Given the description of an element on the screen output the (x, y) to click on. 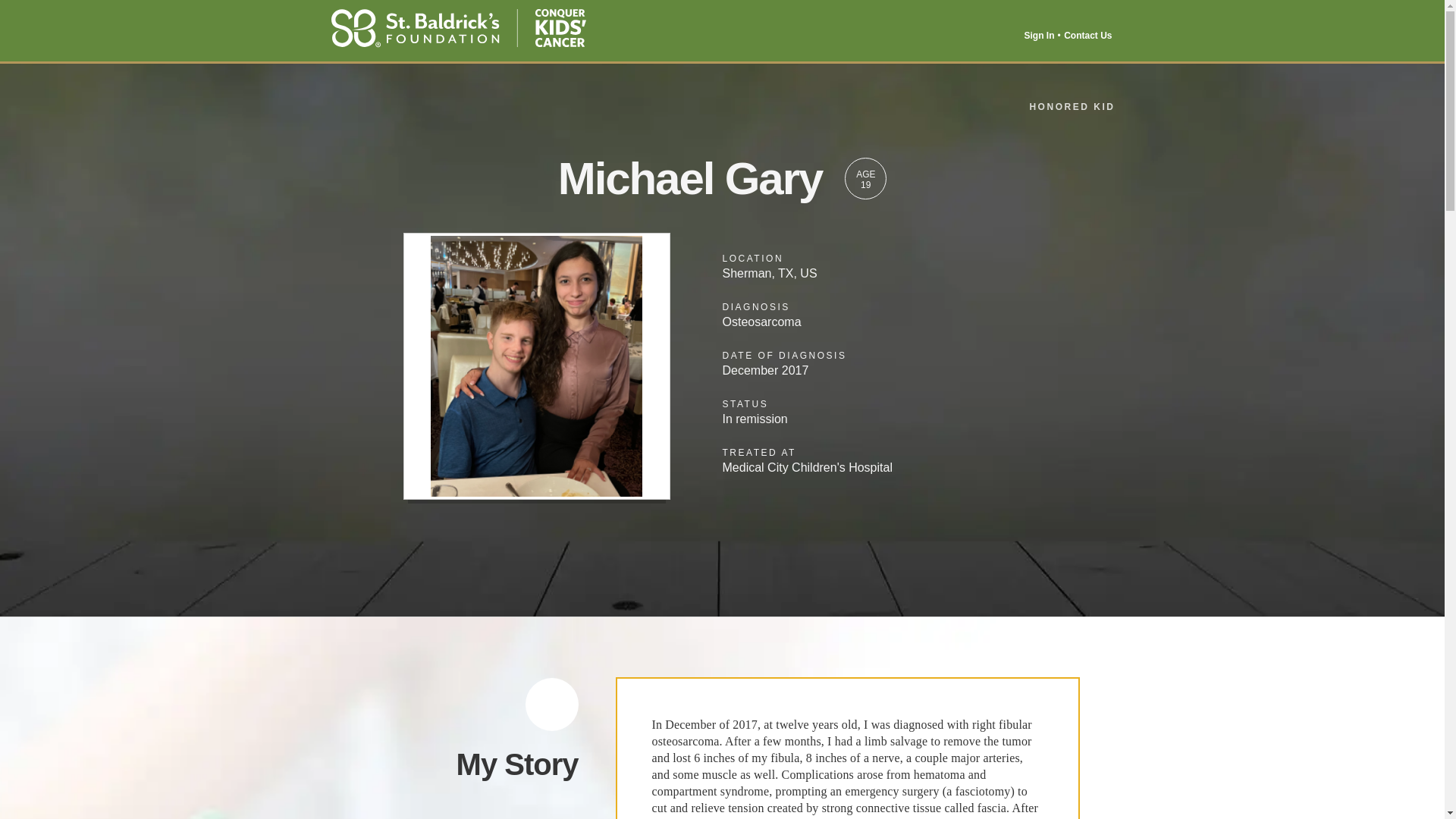
Sign In (1040, 35)
Contact Us (1088, 35)
